Given the description of an element on the screen output the (x, y) to click on. 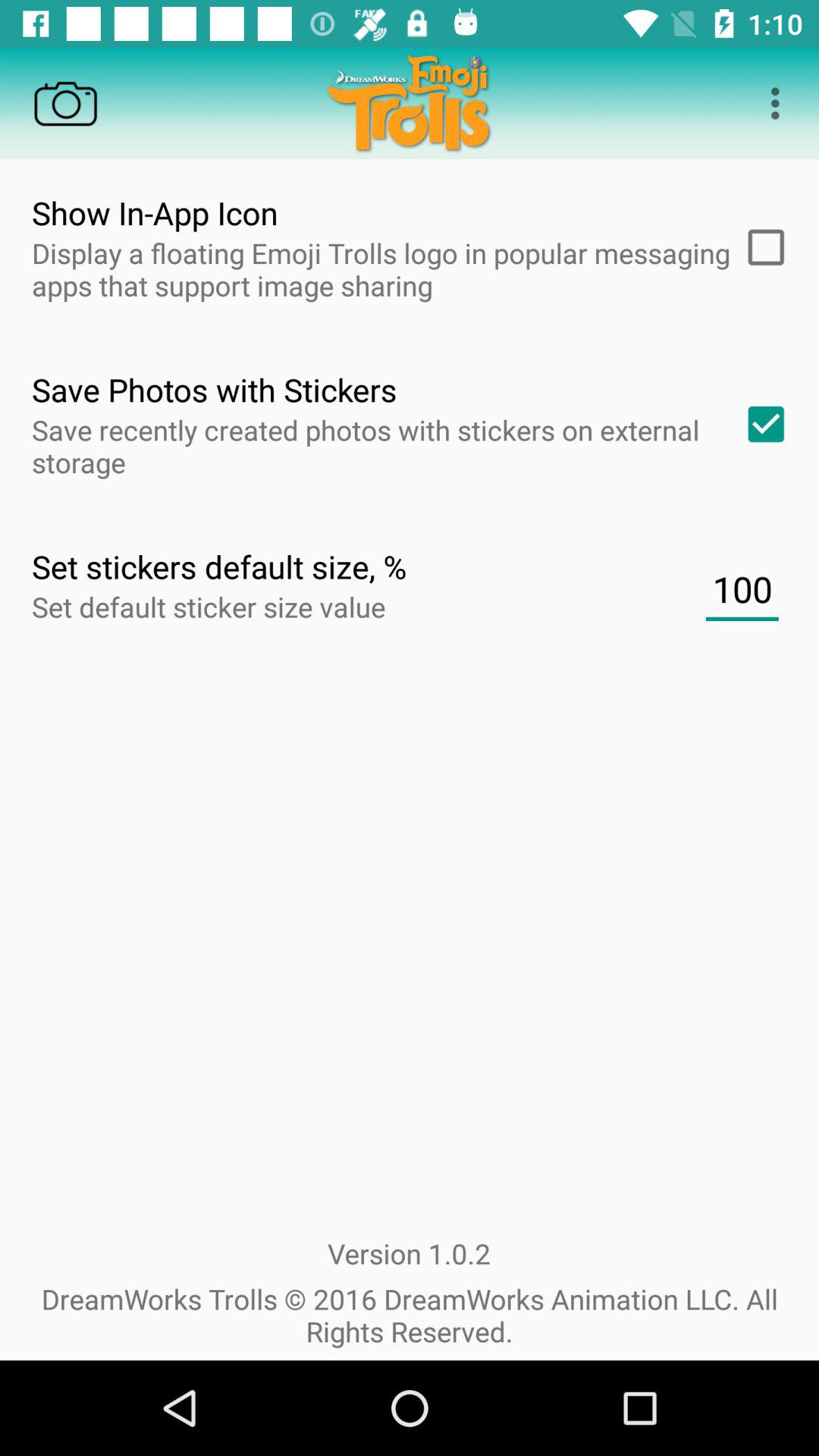
toggle save photos with stickers on external storage (760, 424)
